Given the description of an element on the screen output the (x, y) to click on. 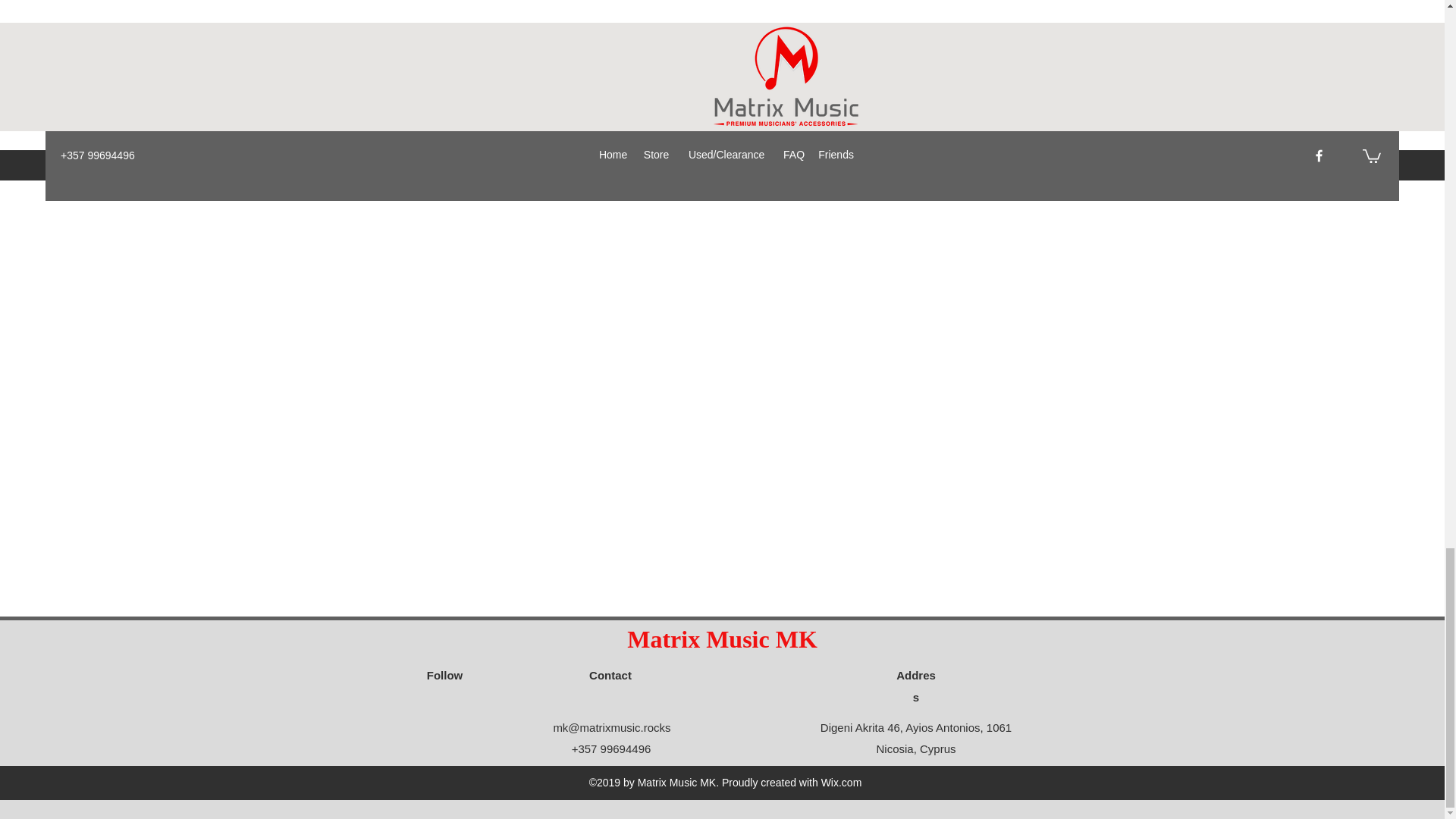
Matrix Music MK (721, 638)
